Given the description of an element on the screen output the (x, y) to click on. 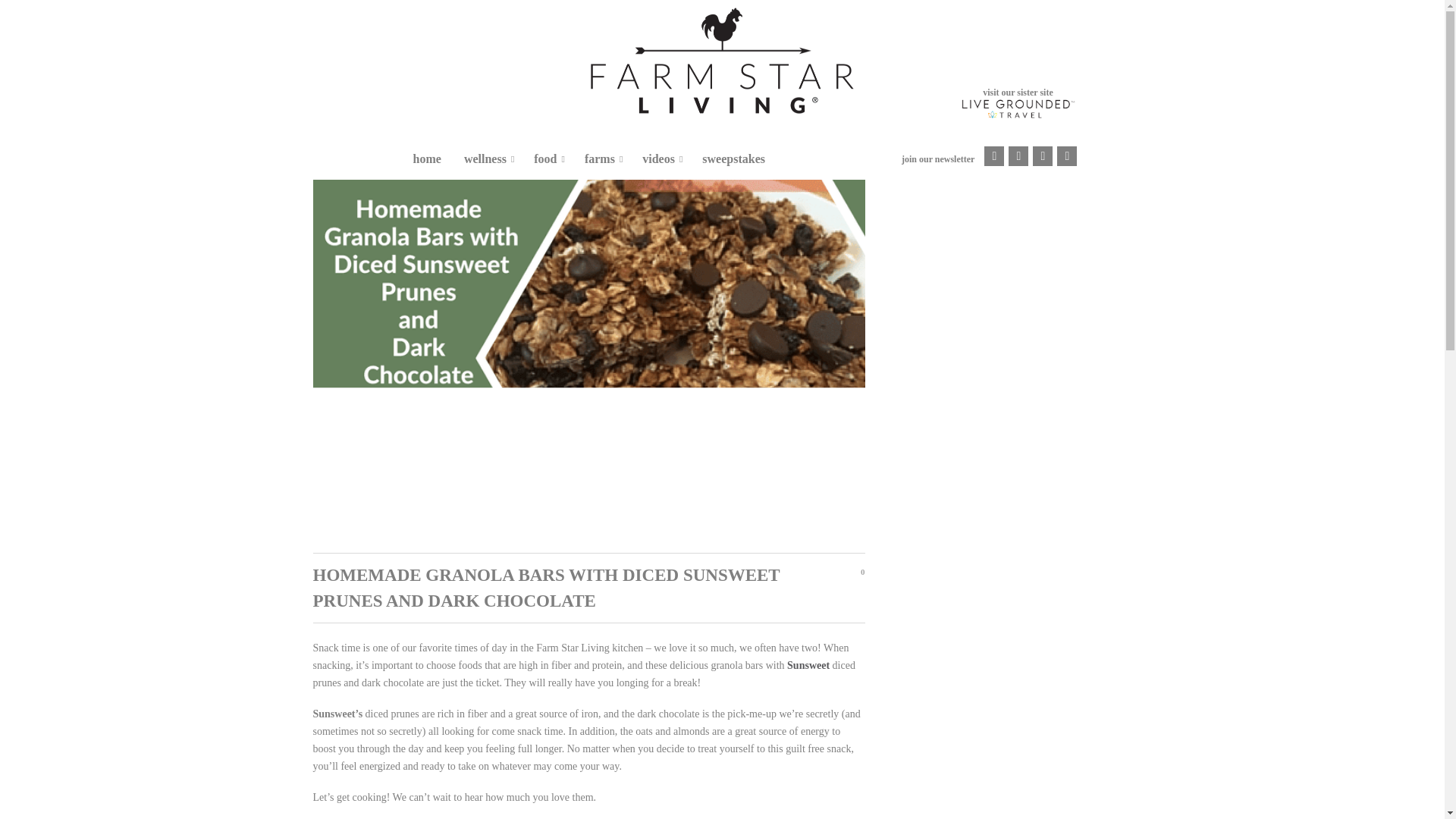
Pinterest (1042, 156)
twitter (1067, 156)
home (426, 160)
pinterest (1042, 156)
videos (656, 160)
food (542, 160)
Facebook (994, 156)
instagram (1018, 156)
wellness (482, 160)
facebook (994, 156)
